Given the description of an element on the screen output the (x, y) to click on. 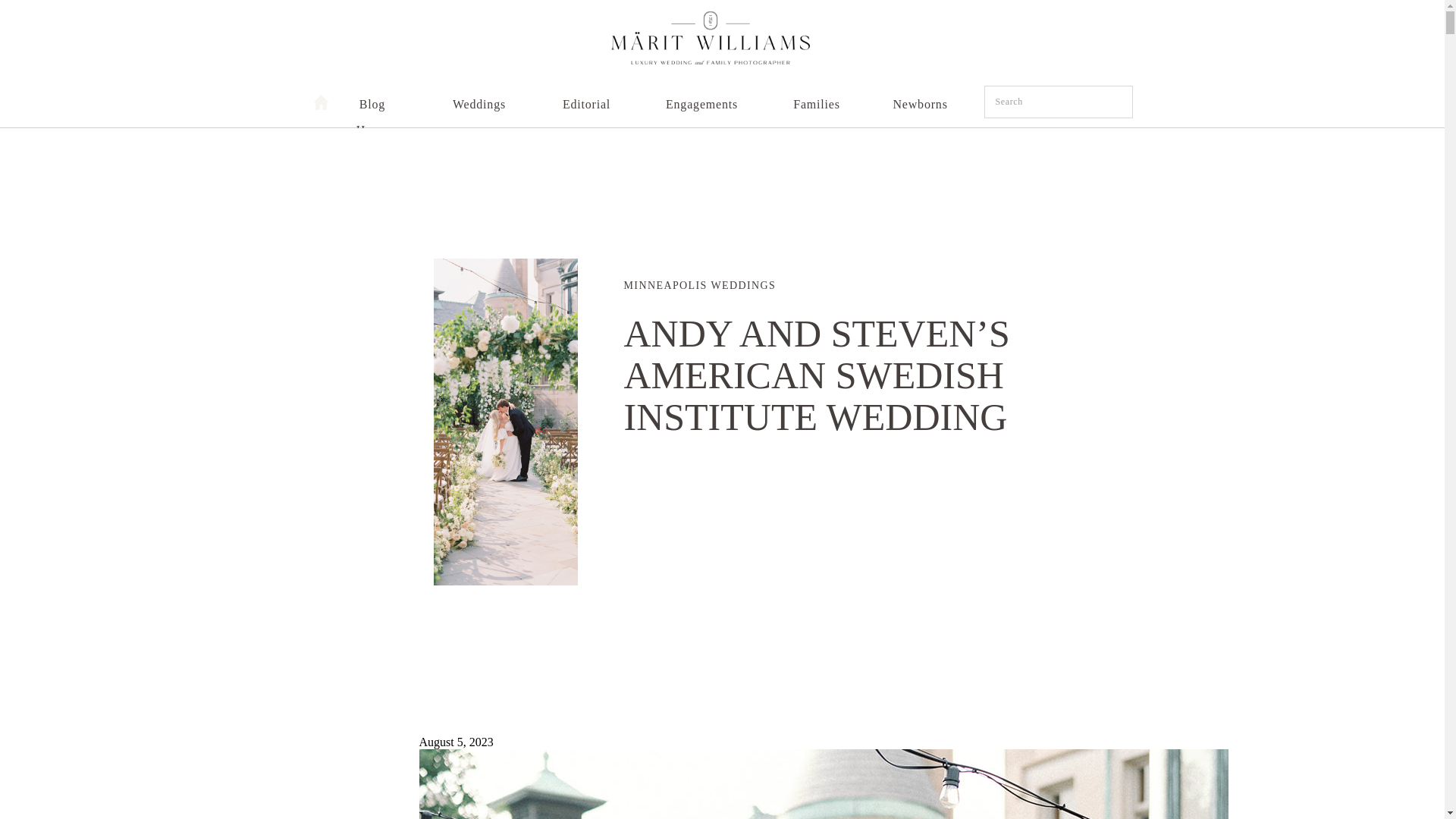
Families (816, 99)
Newborns (918, 99)
MINNEAPOLIS WEDDINGS (699, 285)
Engagements (700, 99)
Blog Home (372, 99)
Editorial (586, 99)
Weddings (478, 99)
